Given the description of an element on the screen output the (x, y) to click on. 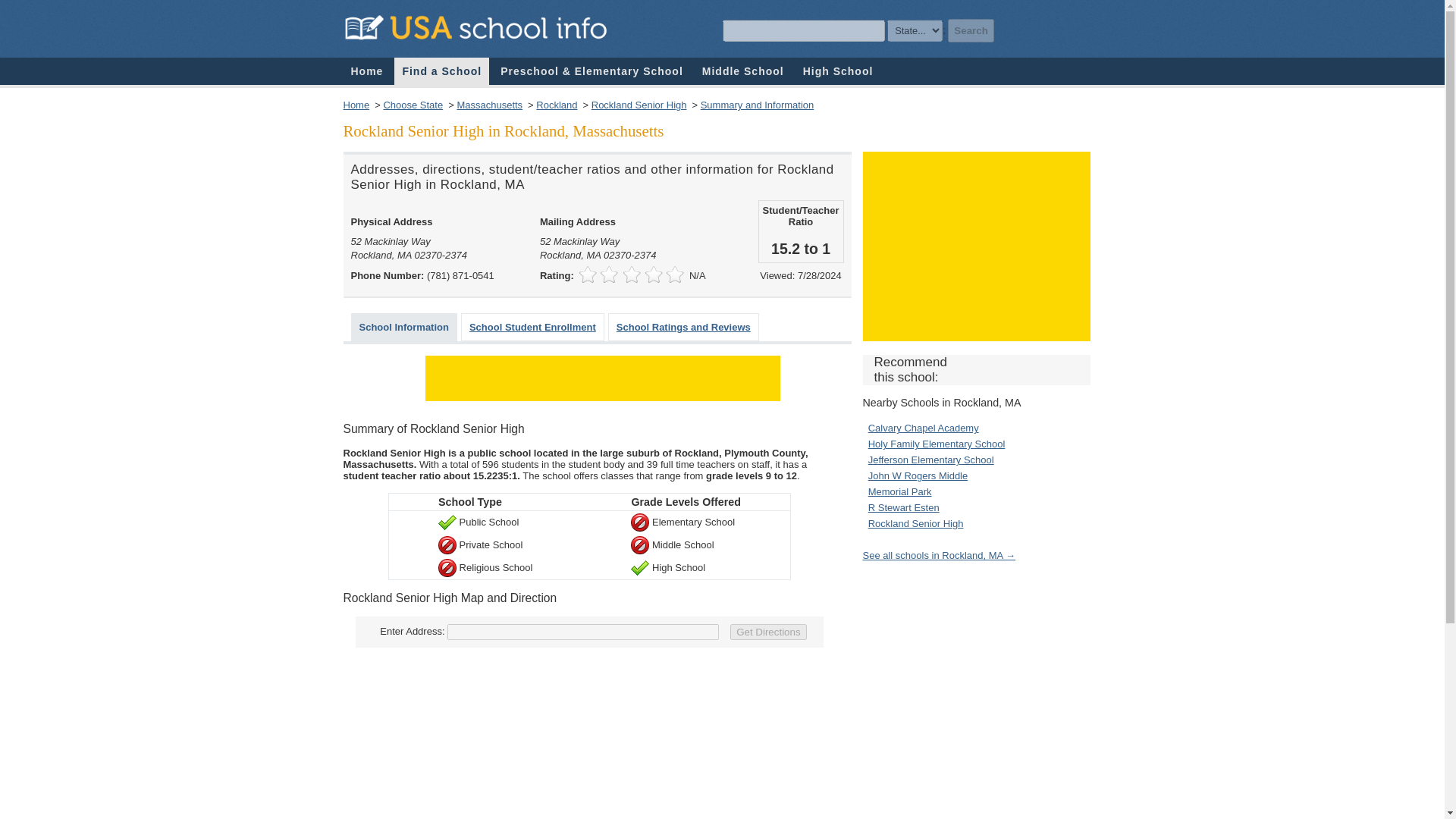
Get Directions (768, 631)
Rockland Senior High (639, 104)
Rockland (555, 104)
Browse Middle Schools By State (743, 71)
Rockland Senior High (915, 523)
Massachusetts (489, 104)
Advertisement (976, 246)
USA school info home (366, 71)
Browse All Rockland Schools in Massachusetts (939, 555)
School Ratings and Reviews (683, 326)
